Given the description of an element on the screen output the (x, y) to click on. 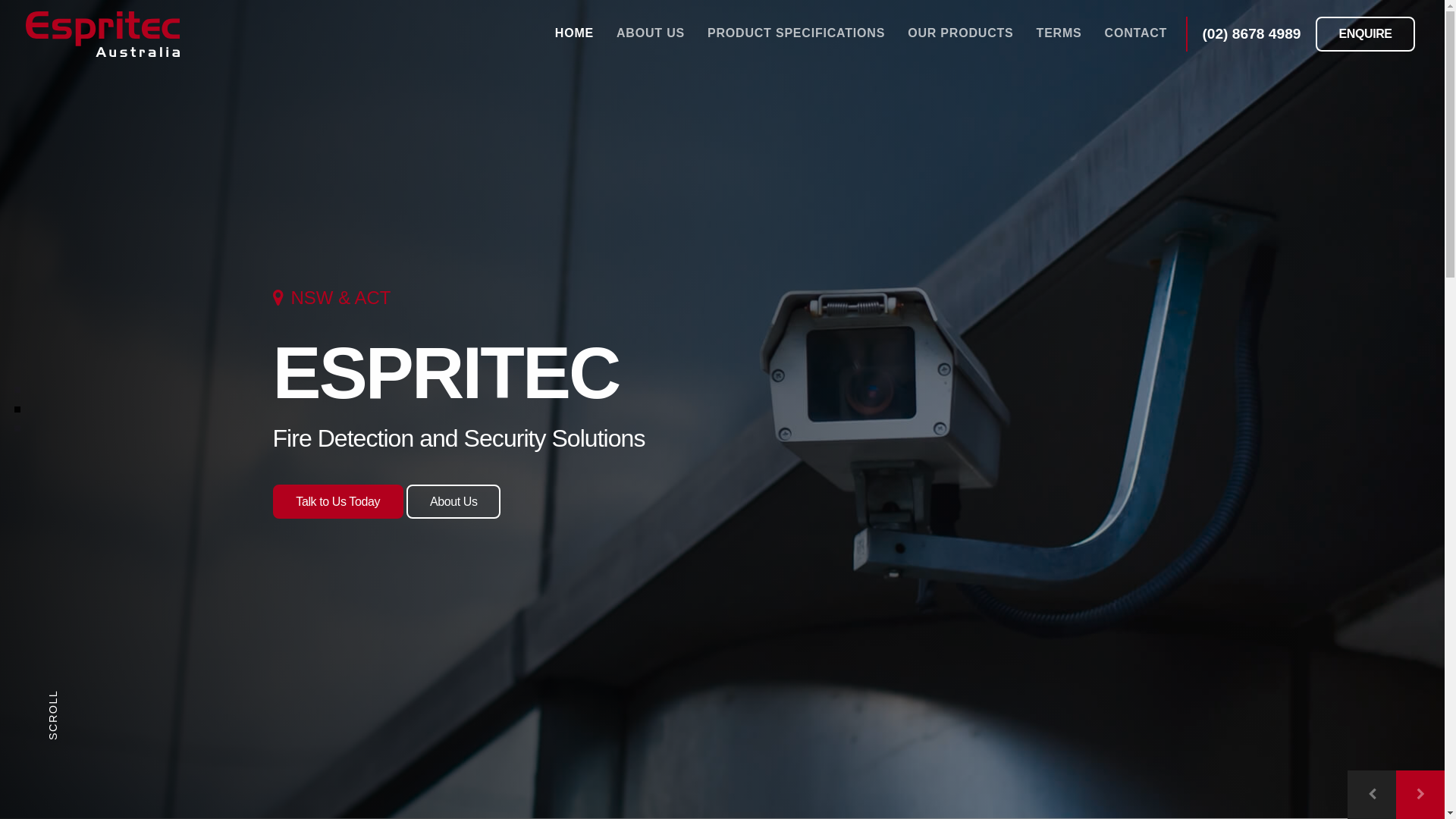
TERMS Element type: text (1059, 33)
PRODUCT SPECIFICATIONS Element type: text (795, 33)
CONTACT Element type: text (1136, 33)
About Us Element type: text (453, 501)
HOME Element type: text (574, 33)
ENQUIRE Element type: text (1365, 33)
Talk to Us Today Element type: text (338, 501)
OUR PRODUCTS Element type: text (960, 33)
ABOUT US Element type: text (650, 33)
